Given the description of an element on the screen output the (x, y) to click on. 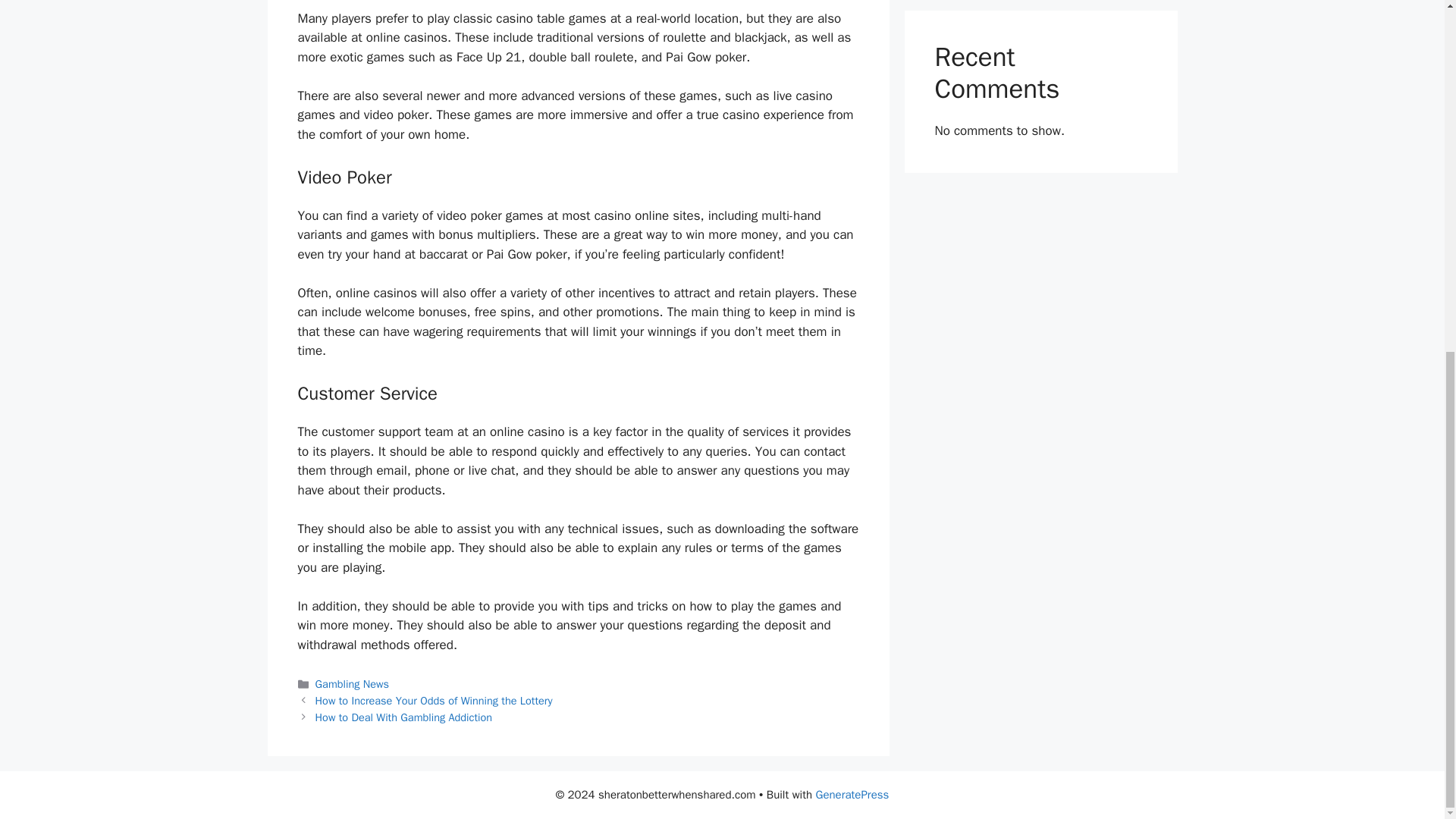
How to Deal With Gambling Addiction (404, 716)
GeneratePress (852, 794)
How to Increase Your Odds of Winning the Lottery (434, 700)
Gambling News (351, 684)
